Given the description of an element on the screen output the (x, y) to click on. 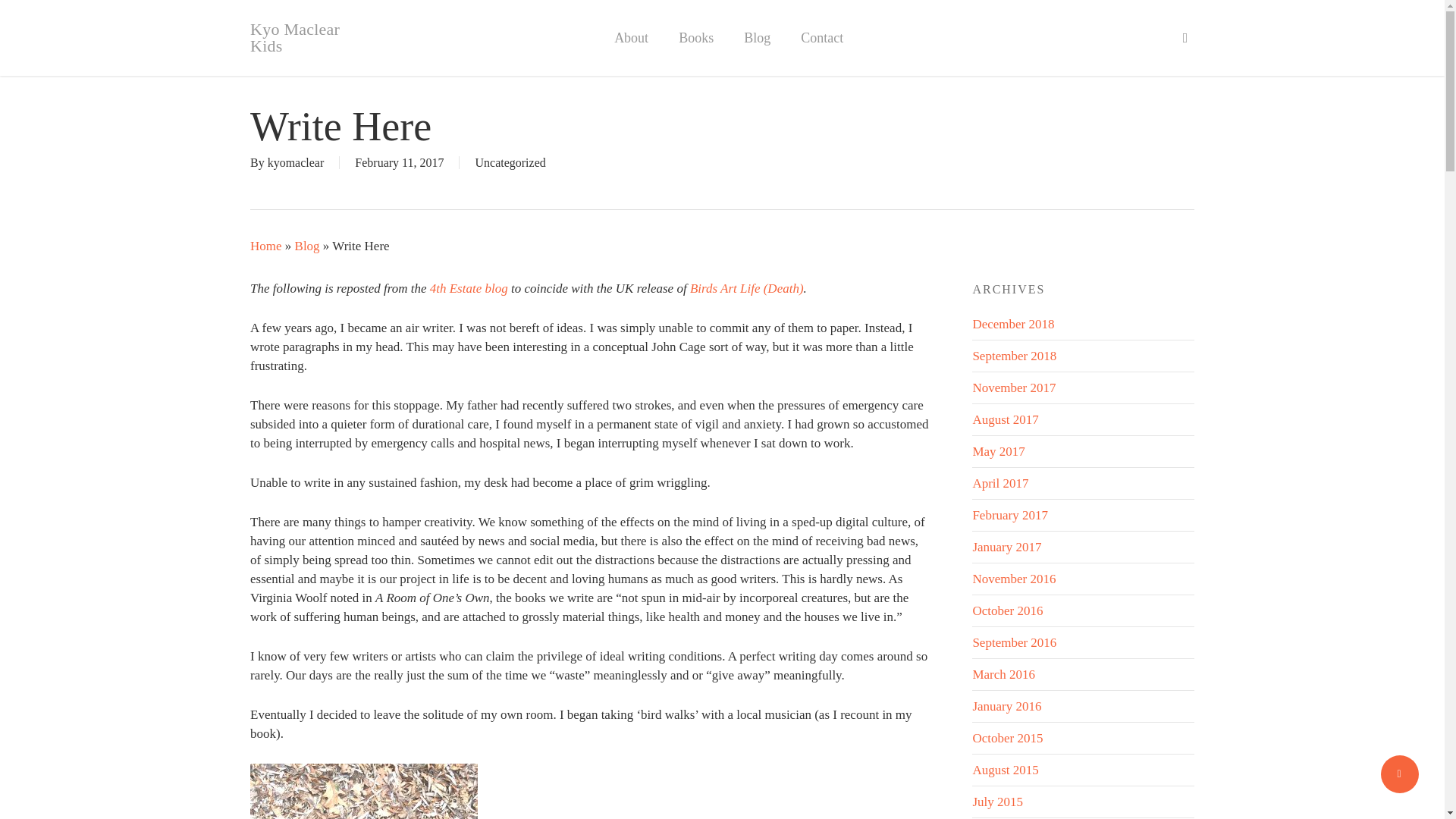
September 2018 (1014, 355)
Blog (307, 246)
Home (266, 246)
kyomaclear (295, 162)
About (630, 38)
Books (696, 38)
December 2018 (1013, 323)
Kyo Maclear Kids (305, 37)
Contact (822, 38)
August 2017 (1005, 419)
